Given the description of an element on the screen output the (x, y) to click on. 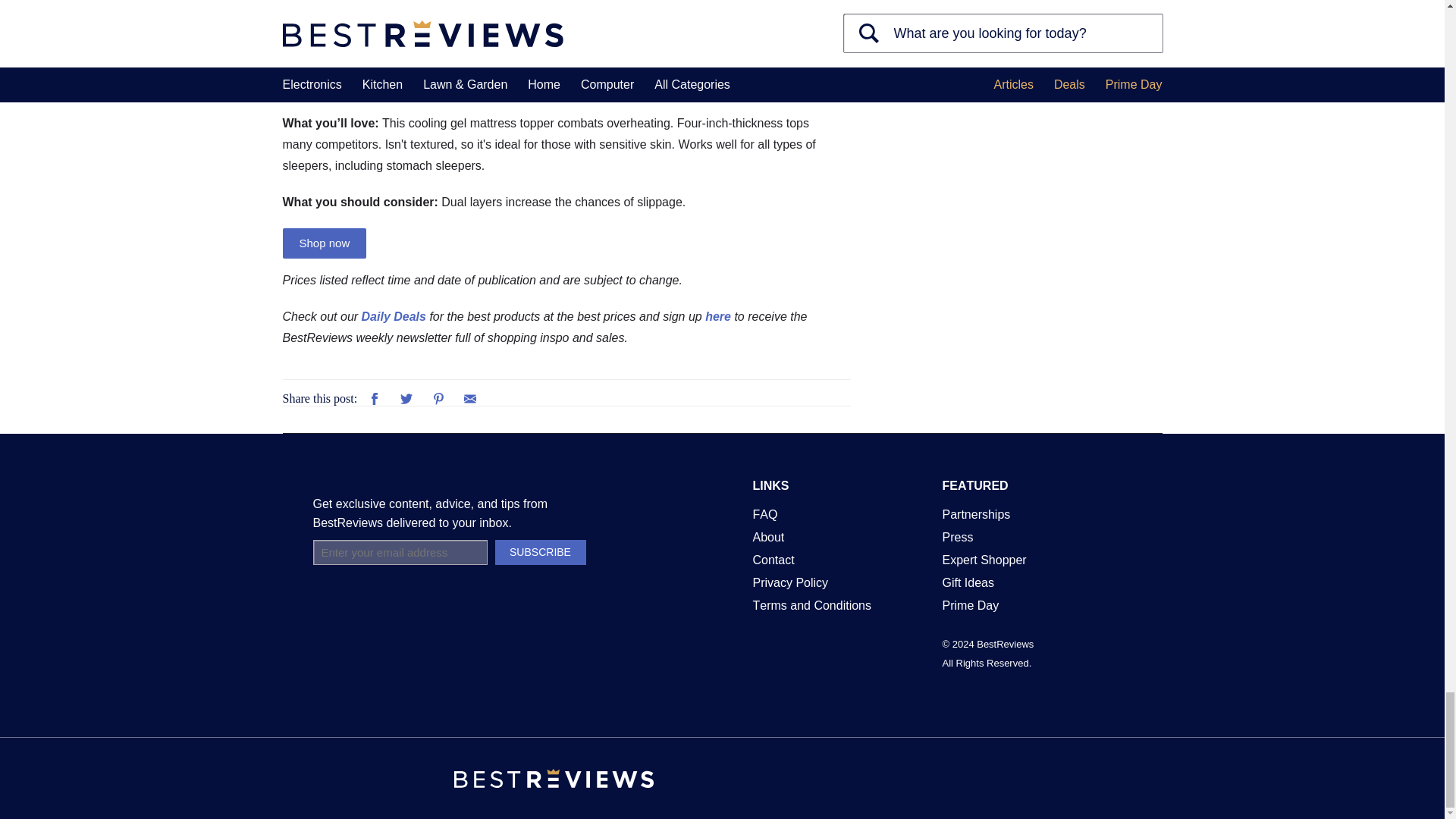
Contact Us (772, 559)
Subscribe email (399, 552)
Frequently asked questions (764, 513)
